Given the description of an element on the screen output the (x, y) to click on. 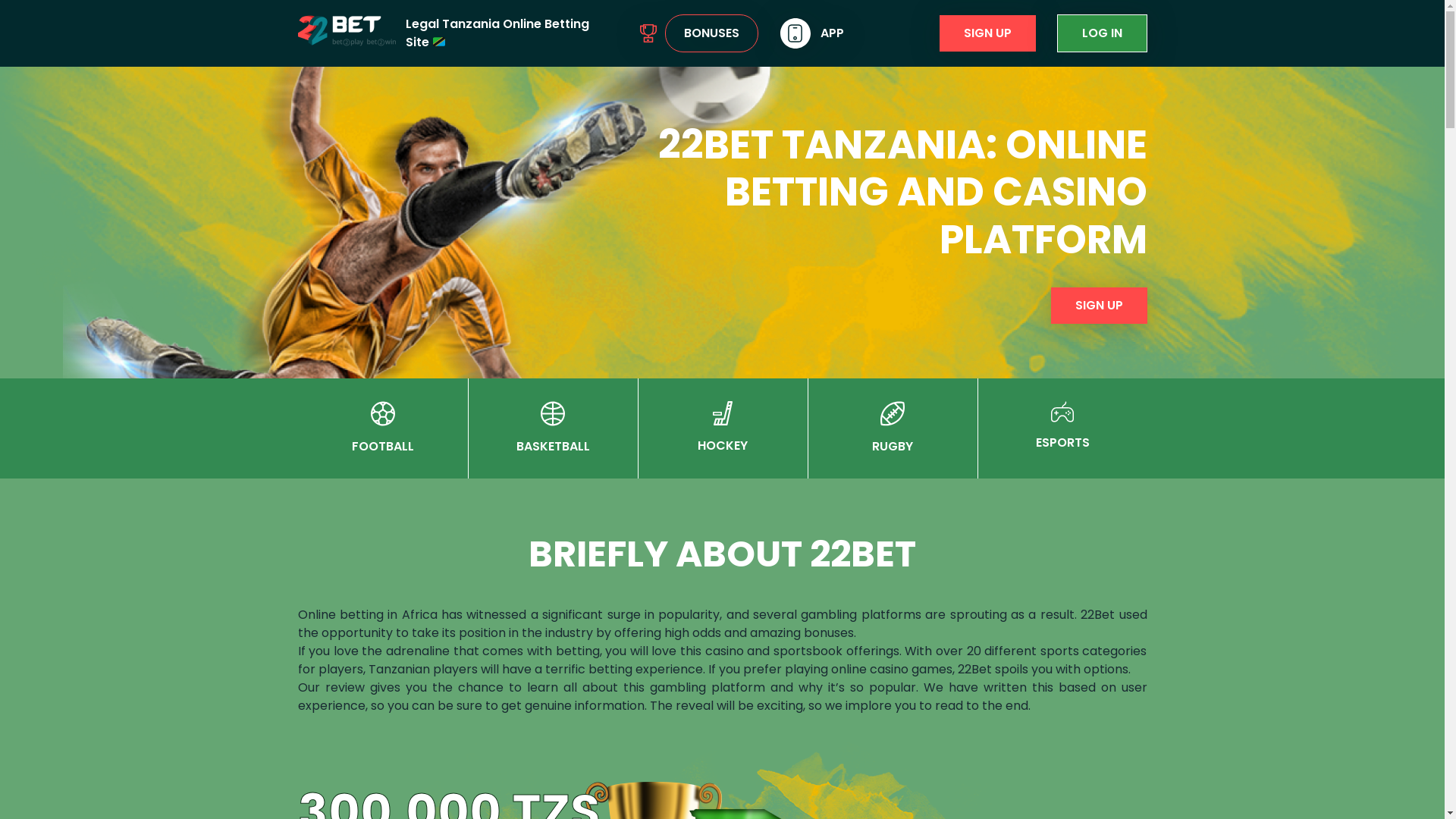
sports-icon-5 Element type: hover (1062, 411)
APP Element type: text (832, 33)
HOCKEY Element type: text (722, 445)
SIGN UP Element type: text (1099, 305)
RUGBY Element type: text (892, 446)
sports-icon-4 Element type: hover (892, 413)
22Bet Tanzania Element type: hover (425, 272)
sports-icon-1 Element type: hover (382, 413)
FOOTBALL Element type: text (382, 446)
ESPORTS Element type: text (1062, 442)
SIGN UP Element type: text (986, 33)
22Bet Tanzania Element type: hover (346, 30)
sports-icon-2 Element type: hover (552, 413)
LOG IN Element type: text (1102, 33)
BASKETBALL Element type: text (552, 446)
sports-icon-3 Element type: hover (722, 413)
BONUSES Element type: text (710, 33)
